Given the description of an element on the screen output the (x, y) to click on. 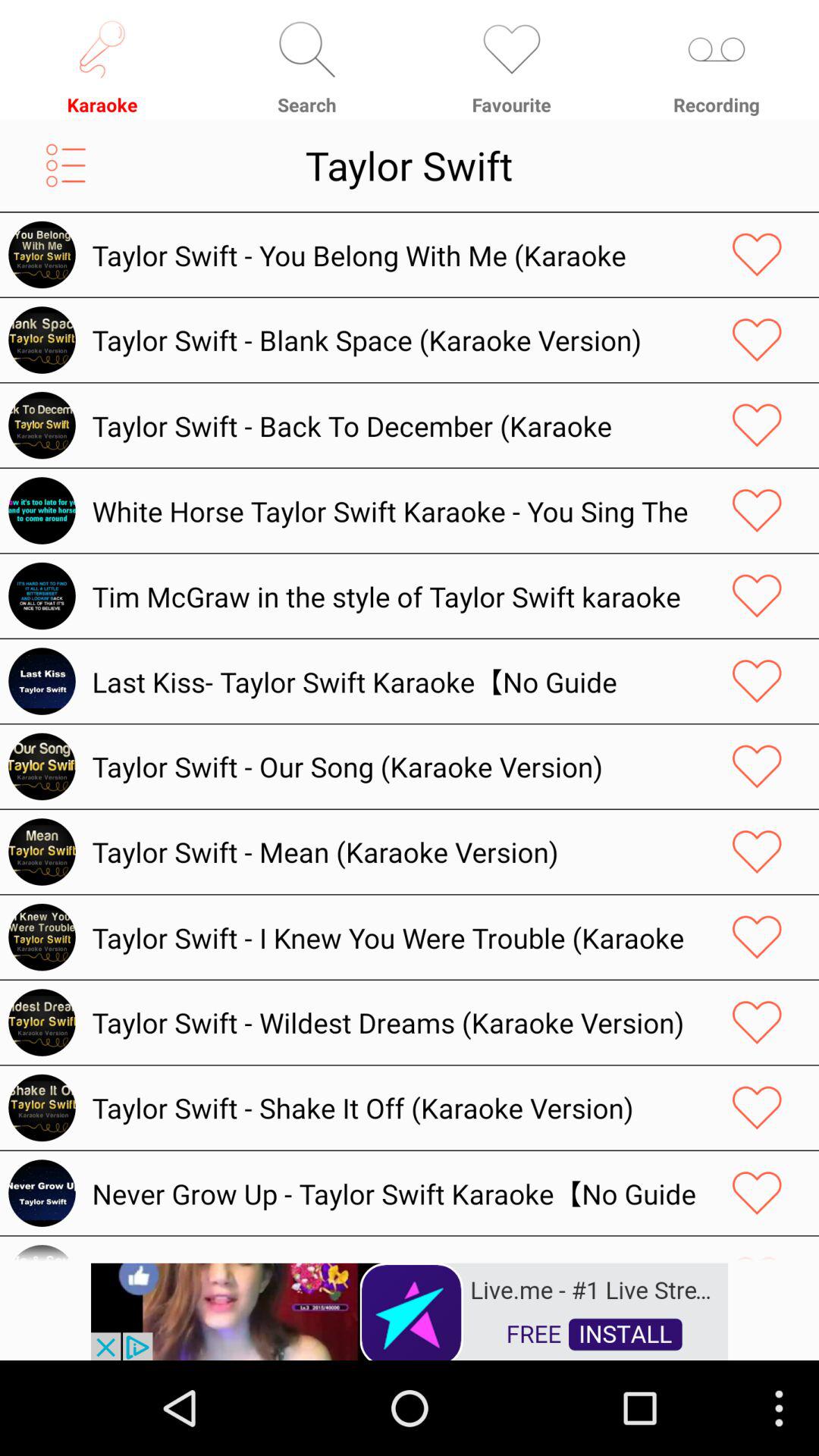
menu (65, 165)
